Given the description of an element on the screen output the (x, y) to click on. 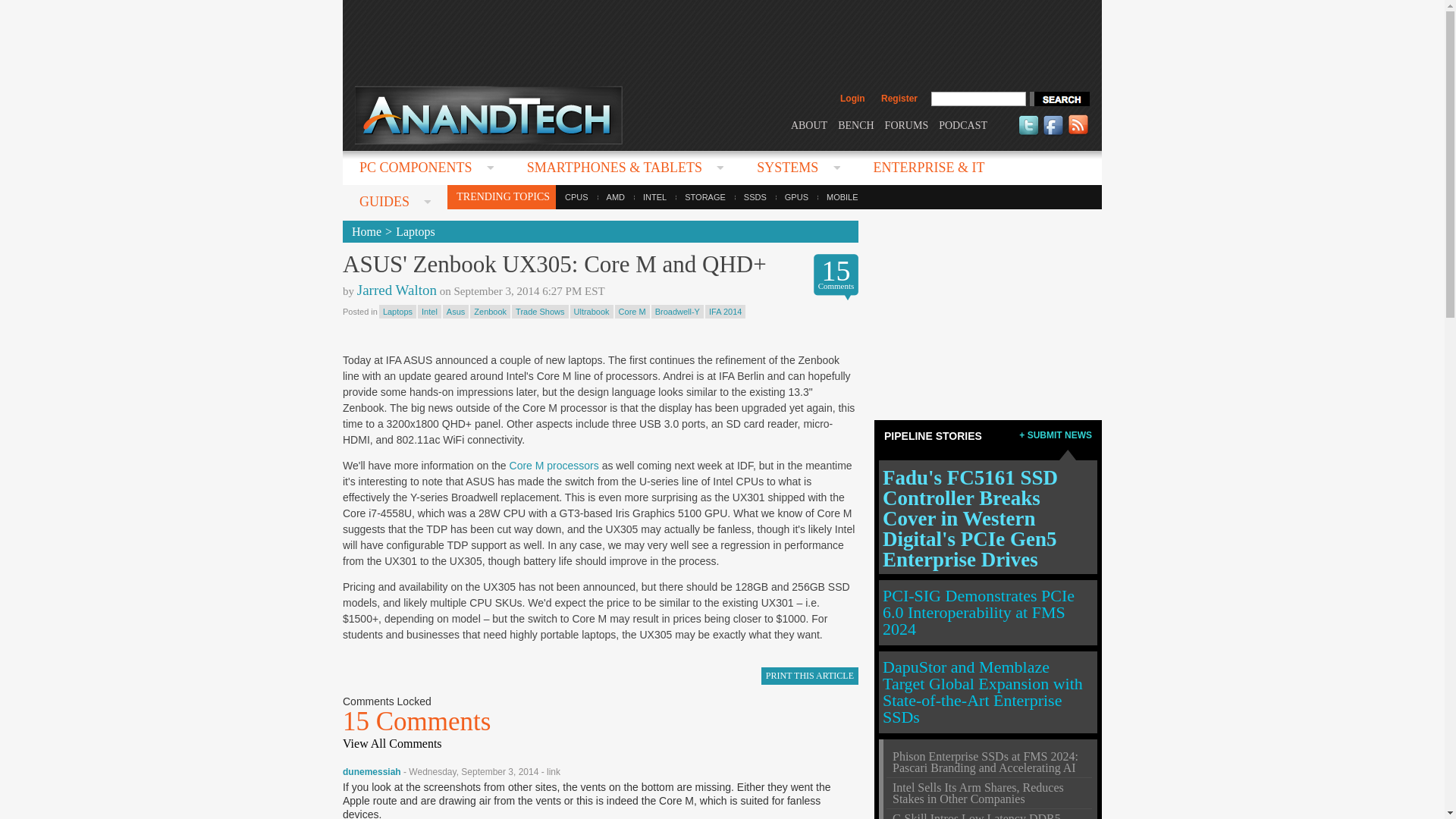
search (1059, 98)
ABOUT (808, 125)
Login (852, 98)
search (1059, 98)
BENCH (855, 125)
Register (898, 98)
FORUMS (906, 125)
search (1059, 98)
PODCAST (963, 125)
